Given the description of an element on the screen output the (x, y) to click on. 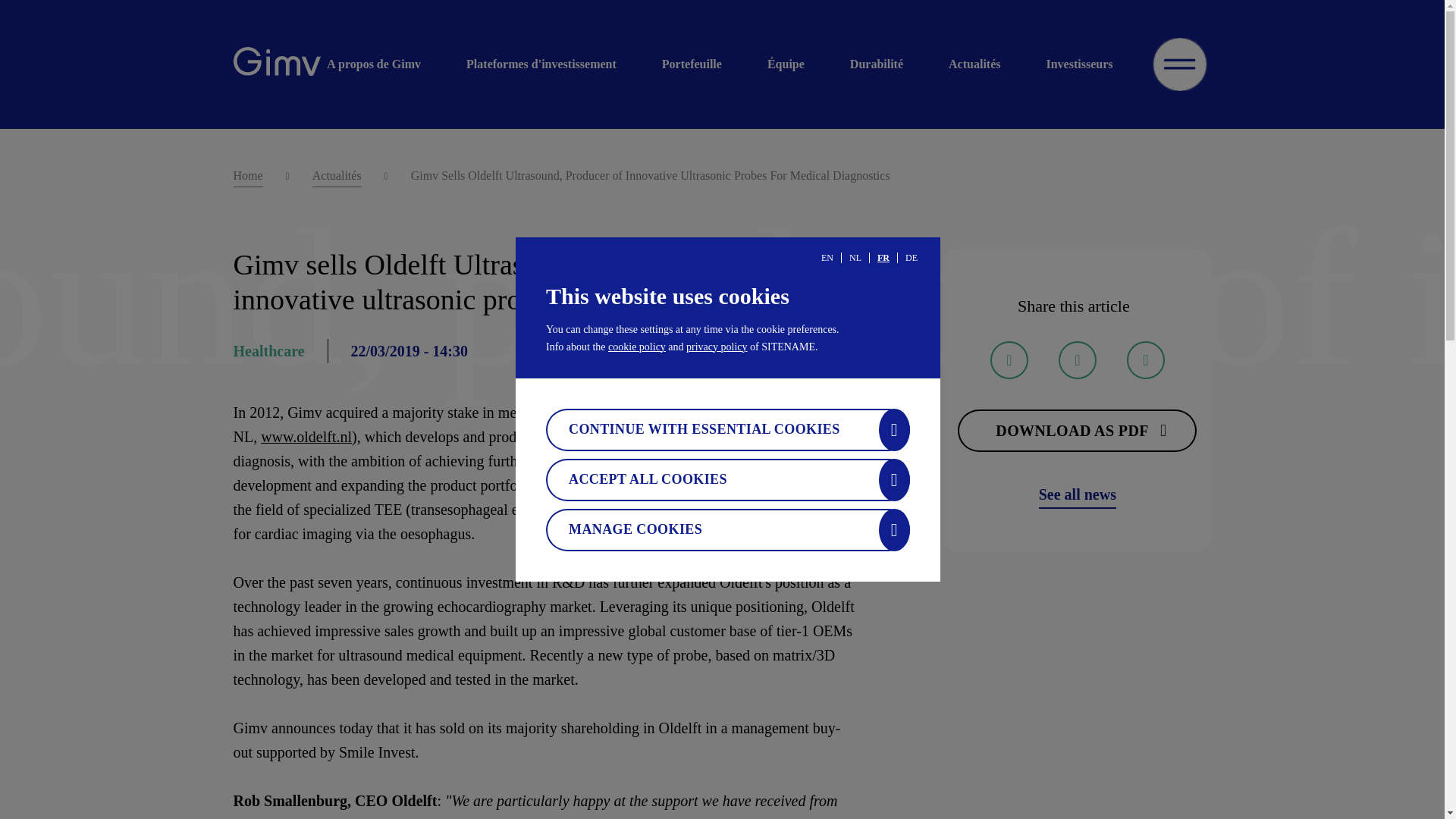
A propos de Gimv (385, 63)
Accueil (276, 64)
Linkedin (1145, 360)
Facebook (1077, 360)
Latest news (1077, 494)
DOWNLOAD AS PDF (1077, 430)
Healthcare (268, 351)
Twitter (1008, 360)
